Given the description of an element on the screen output the (x, y) to click on. 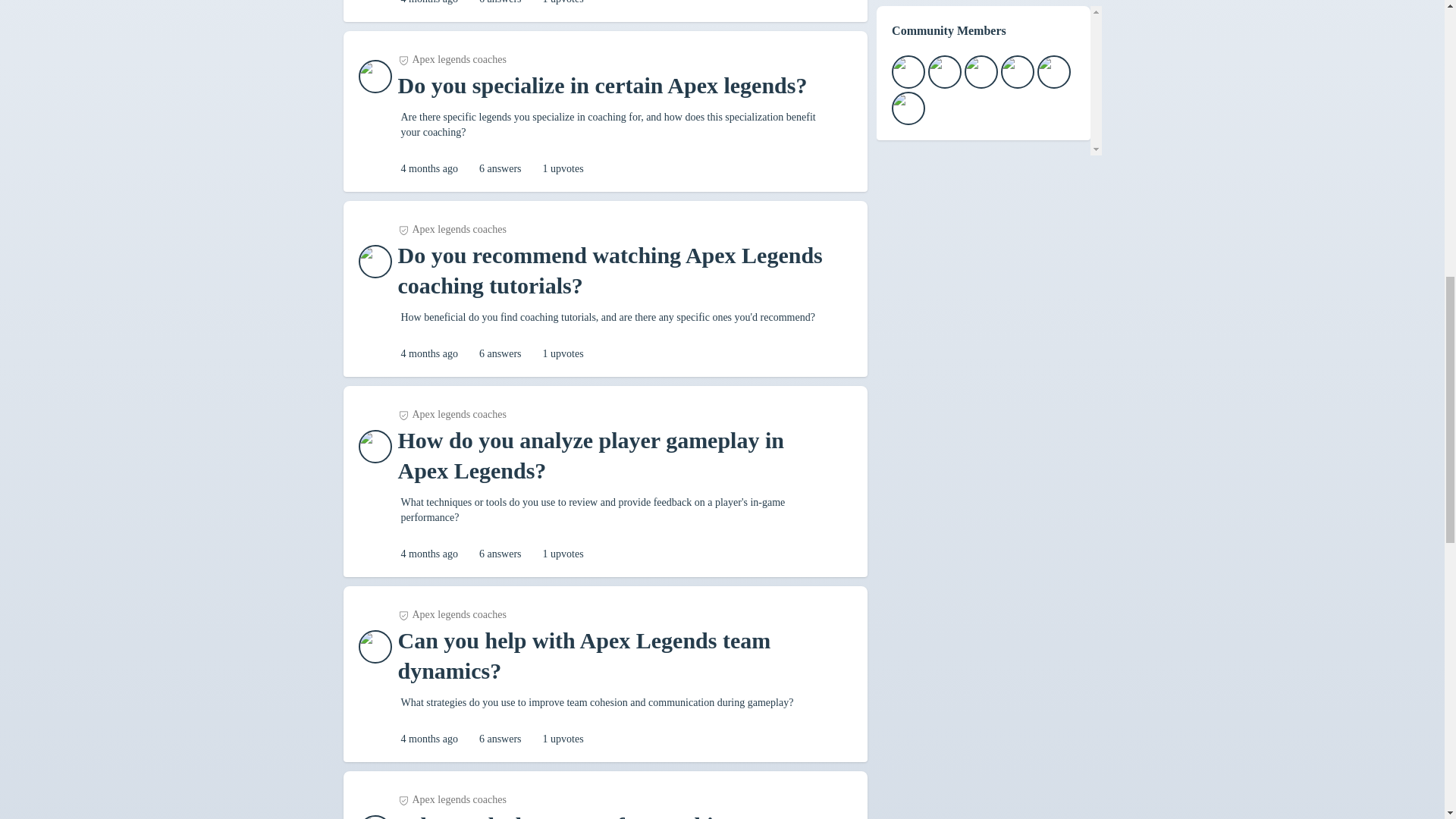
Apex legends coaches (451, 229)
6 answers (500, 168)
6 answers (500, 353)
6 answers (500, 739)
What tools do you use for coaching Apex Legends? (617, 814)
How do you analyze player gameplay in Apex Legends? (617, 455)
Apex legends coaches (451, 614)
Apex legends coaches (451, 799)
Do you recommend watching Apex Legends coaching tutorials? (617, 270)
Can you help with Apex Legends team dynamics? (617, 655)
Apex legends coaches (451, 59)
Apex legends coaches (451, 414)
6 answers (500, 3)
6 answers (500, 554)
Do you specialize in certain Apex legends? (601, 85)
